Given the description of an element on the screen output the (x, y) to click on. 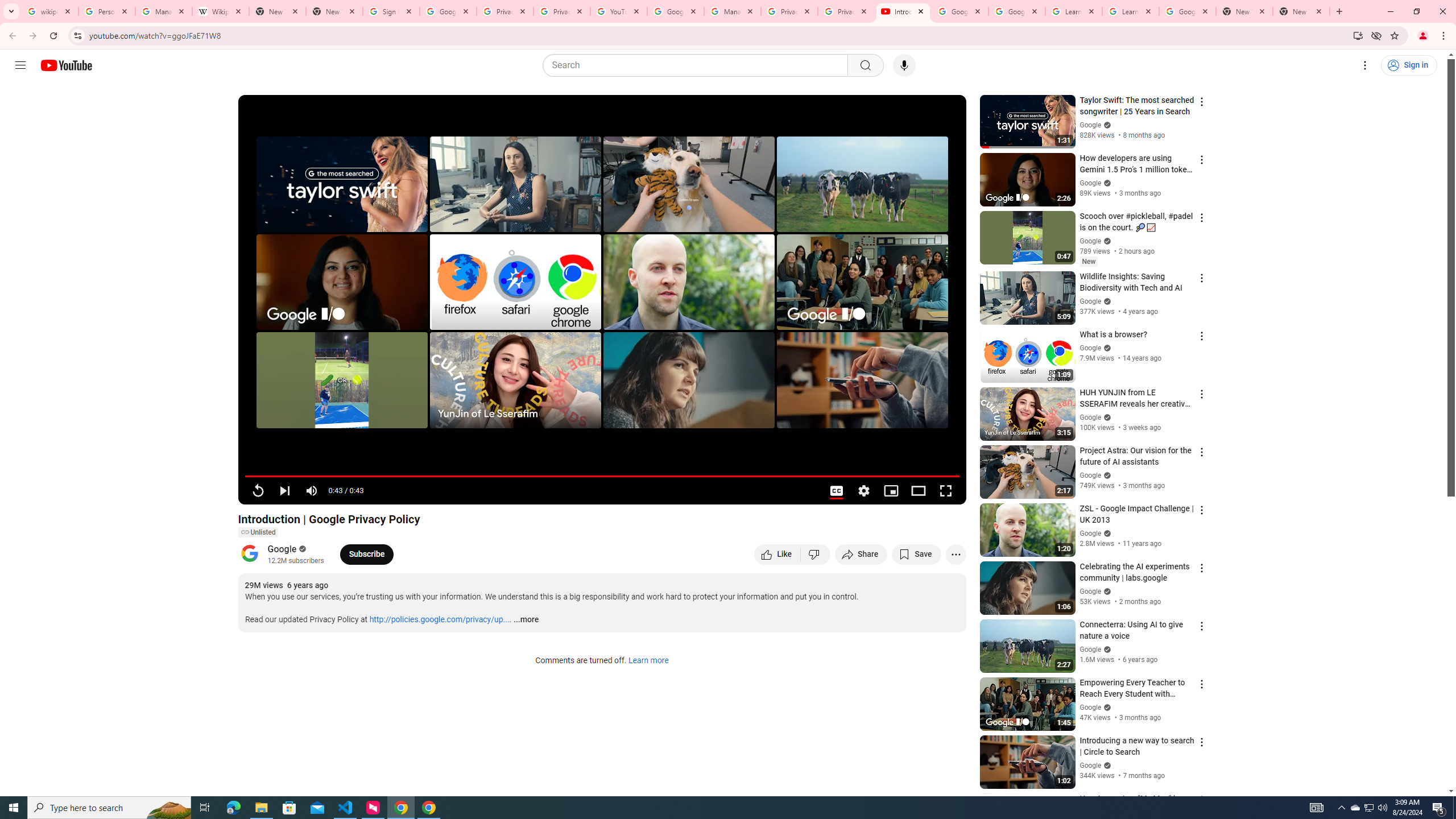
Miniplayer (i) (890, 490)
Wikipedia:Edit requests - Wikipedia (220, 11)
Google (282, 548)
Learn more (647, 661)
